Given the description of an element on the screen output the (x, y) to click on. 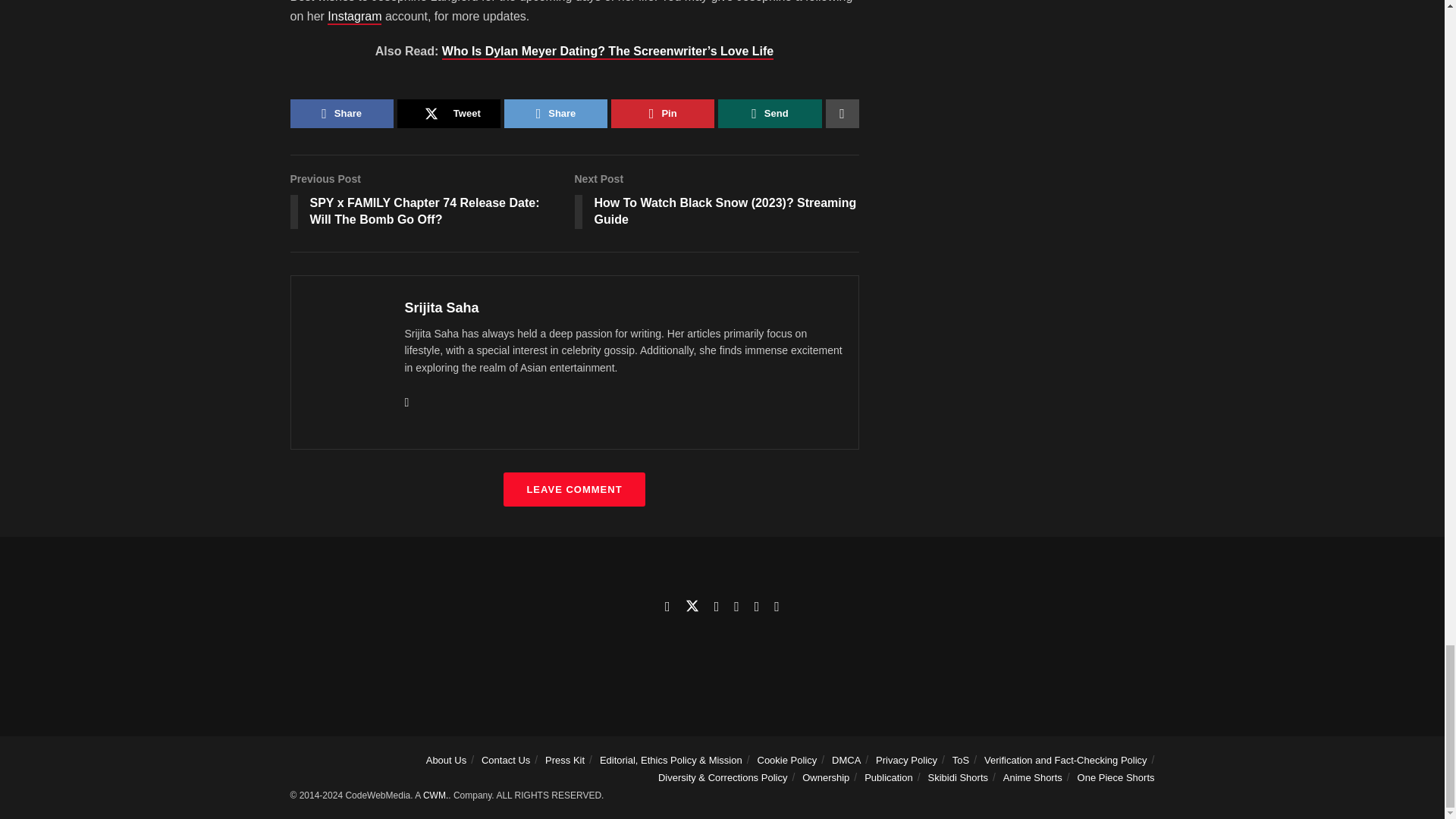
Share (555, 113)
Send (769, 113)
Pin (662, 113)
Srijita Saha (441, 307)
Share (341, 113)
Tweet (448, 113)
Instagram (354, 17)
